Given the description of an element on the screen output the (x, y) to click on. 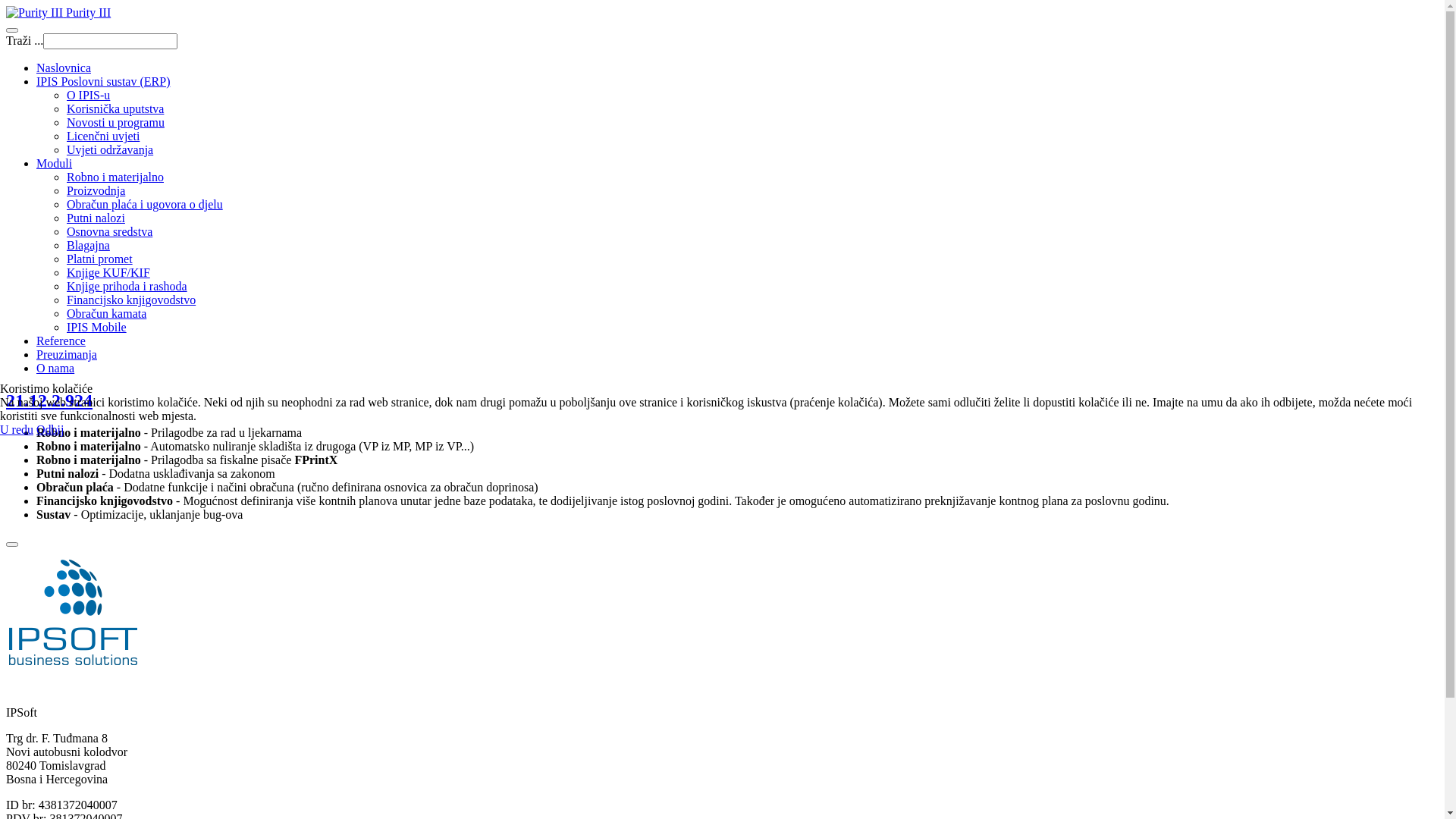
Knjige KUF/KIF Element type: text (108, 272)
Blagajna Element type: text (87, 244)
Odbij Element type: text (49, 429)
21.12.2.924 Element type: text (49, 400)
Novosti u programu Element type: text (115, 122)
Moduli Element type: text (54, 162)
IPIS Mobile Element type: text (96, 326)
U redu Element type: text (16, 429)
Putni nalozi Element type: text (95, 217)
Preuzimanja Element type: text (66, 354)
Knjige prihoda i rashoda Element type: text (126, 285)
Back to Top Element type: hover (12, 544)
Financijsko knjigovodstvo Element type: text (130, 299)
Proizvodnja Element type: text (95, 190)
Robno i materijalno Element type: text (114, 176)
Naslovnica Element type: text (63, 67)
Purity III Element type: text (58, 12)
Reference Element type: text (60, 340)
O nama Element type: text (55, 367)
O IPIS-u Element type: text (87, 94)
Osnovna sredstva Element type: text (109, 231)
IPIS Poslovni sustav (ERP) Element type: text (102, 81)
Platni promet Element type: text (99, 258)
